Given the description of an element on the screen output the (x, y) to click on. 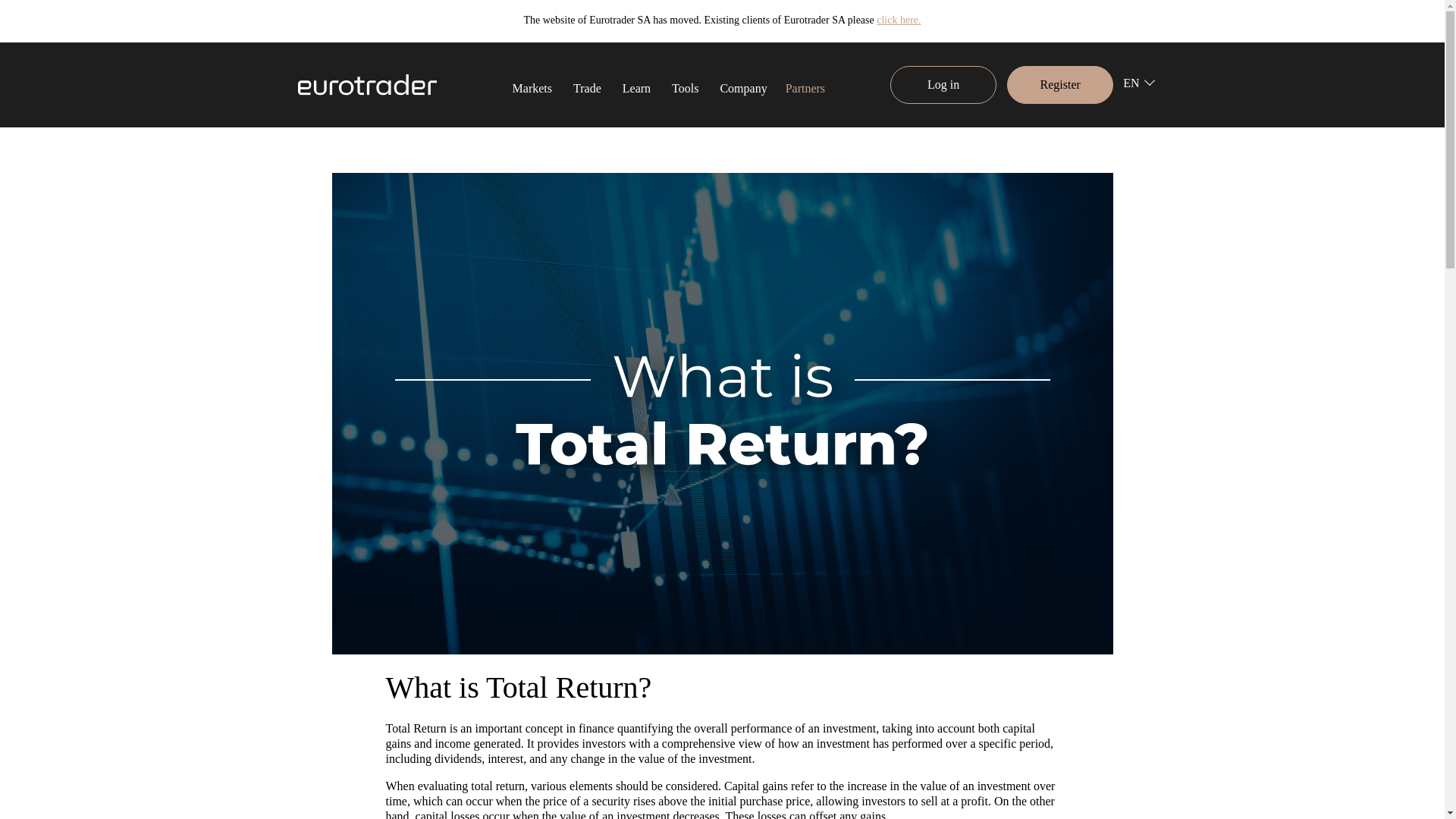
Partners (805, 88)
Learn (636, 86)
Company (743, 86)
Tools (685, 86)
Trade (586, 86)
Markets (532, 86)
Markets (532, 86)
Trade (586, 86)
Learn (636, 86)
Log in (942, 85)
